Given the description of an element on the screen output the (x, y) to click on. 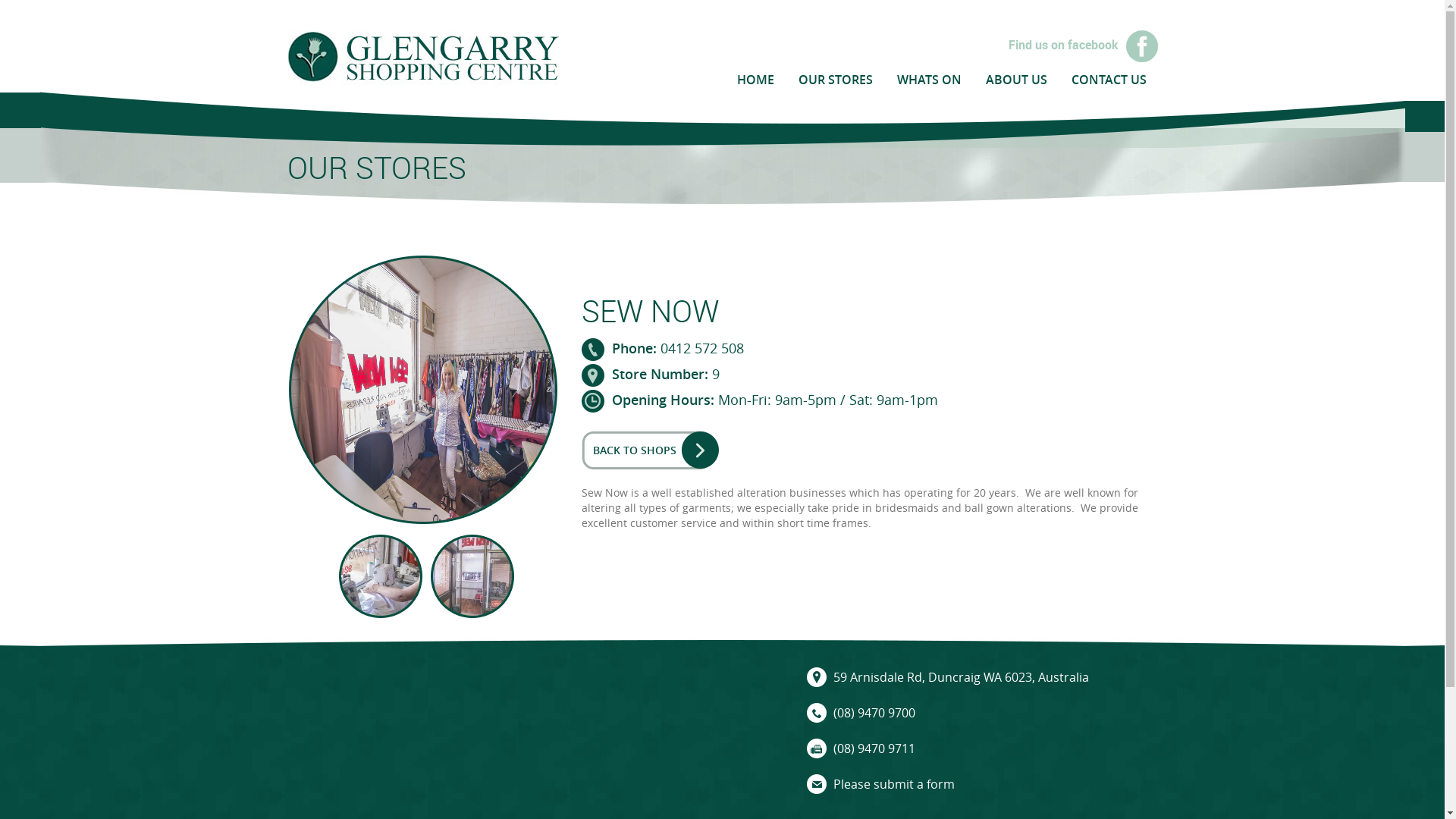
OUR STORES Element type: text (834, 78)
HOME Element type: text (755, 78)
(08) 9470 9700 Element type: text (873, 712)
CONTACT US Element type: text (1108, 78)
WHATS ON Element type: text (928, 78)
(08) 9470 9711 Element type: text (873, 748)
0412 572 508 Element type: text (701, 347)
Please submit a form Element type: text (892, 783)
BACK TO SHOPS Element type: text (650, 450)
Glengarry Shopping Centre Element type: hover (422, 56)
Find us on facebook Element type: text (933, 46)
ABOUT US Element type: text (1016, 78)
